Given the description of an element on the screen output the (x, y) to click on. 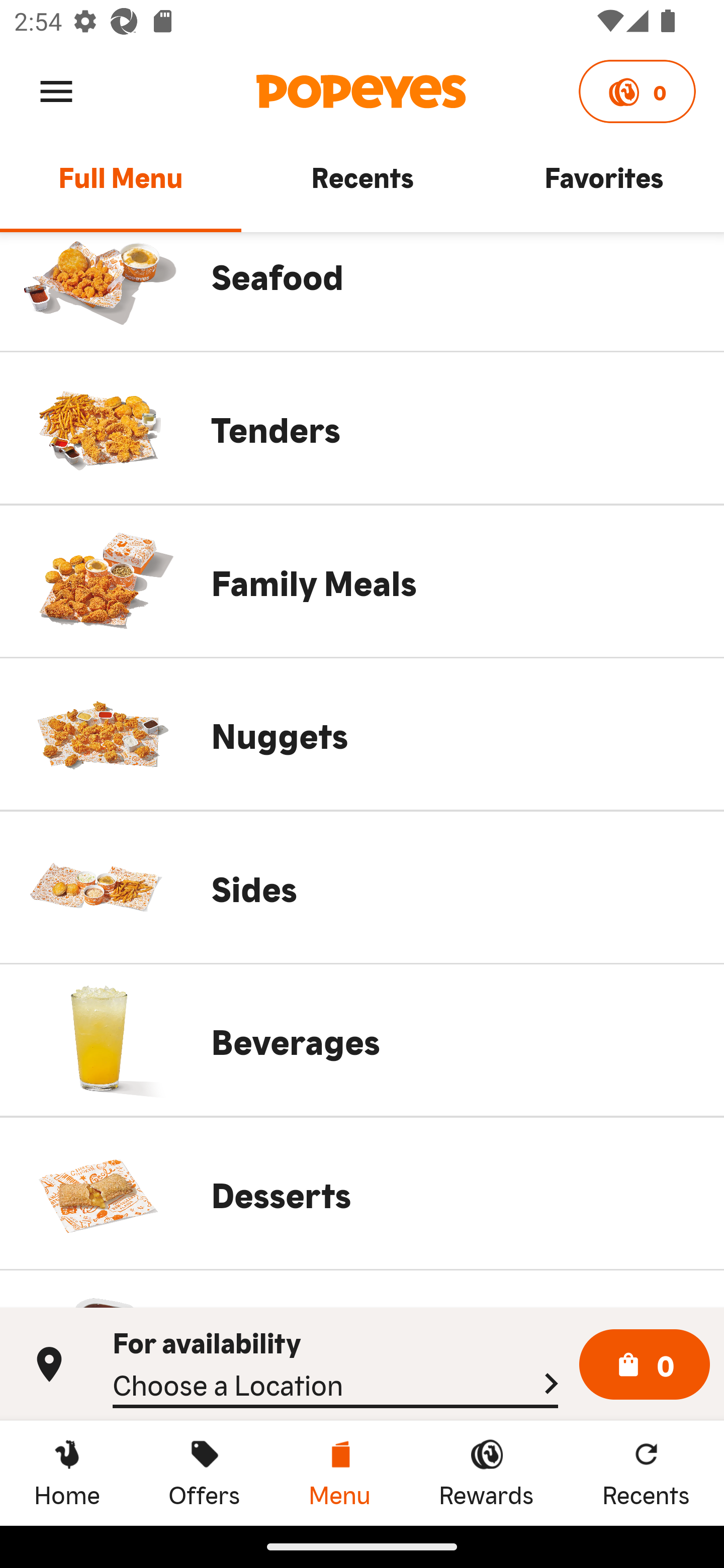
Menu  (56, 90)
0 Points 0 (636, 91)
Full Menu (120, 186)
Recents (361, 186)
Favorites (603, 186)
Seafood, Seafood Seafood Seafood (362, 291)
Chicken Tenders, Tenders Chicken Tenders Tenders (362, 427)
Nuggets, Nuggets Nuggets Nuggets (362, 733)
0 Cart total  0 (644, 1364)
Home Home Home (66, 1472)
Offers Offers Offers (203, 1472)
Menu, current page Menu Menu, current page (339, 1472)
Rewards Rewards Rewards (486, 1472)
Recents Recents Recents (646, 1472)
